Given the description of an element on the screen output the (x, y) to click on. 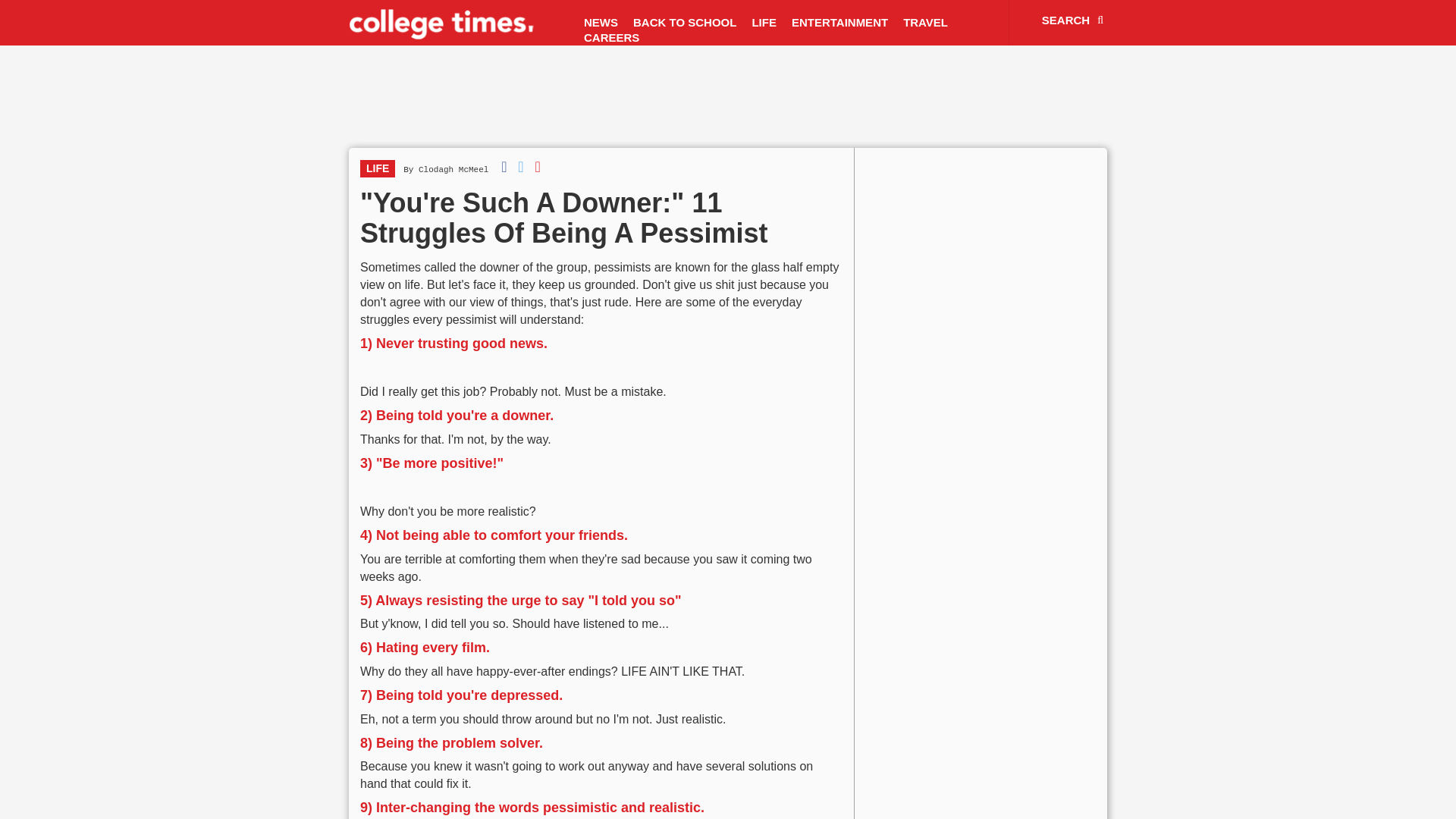
LIFE (376, 168)
BACK TO SCHOOL (685, 22)
NEWS (601, 22)
ENTERTAINMENT (839, 22)
CAREERS (611, 37)
TRAVEL (925, 22)
LIFE (764, 22)
Clodagh McMeel (453, 169)
